Given the description of an element on the screen output the (x, y) to click on. 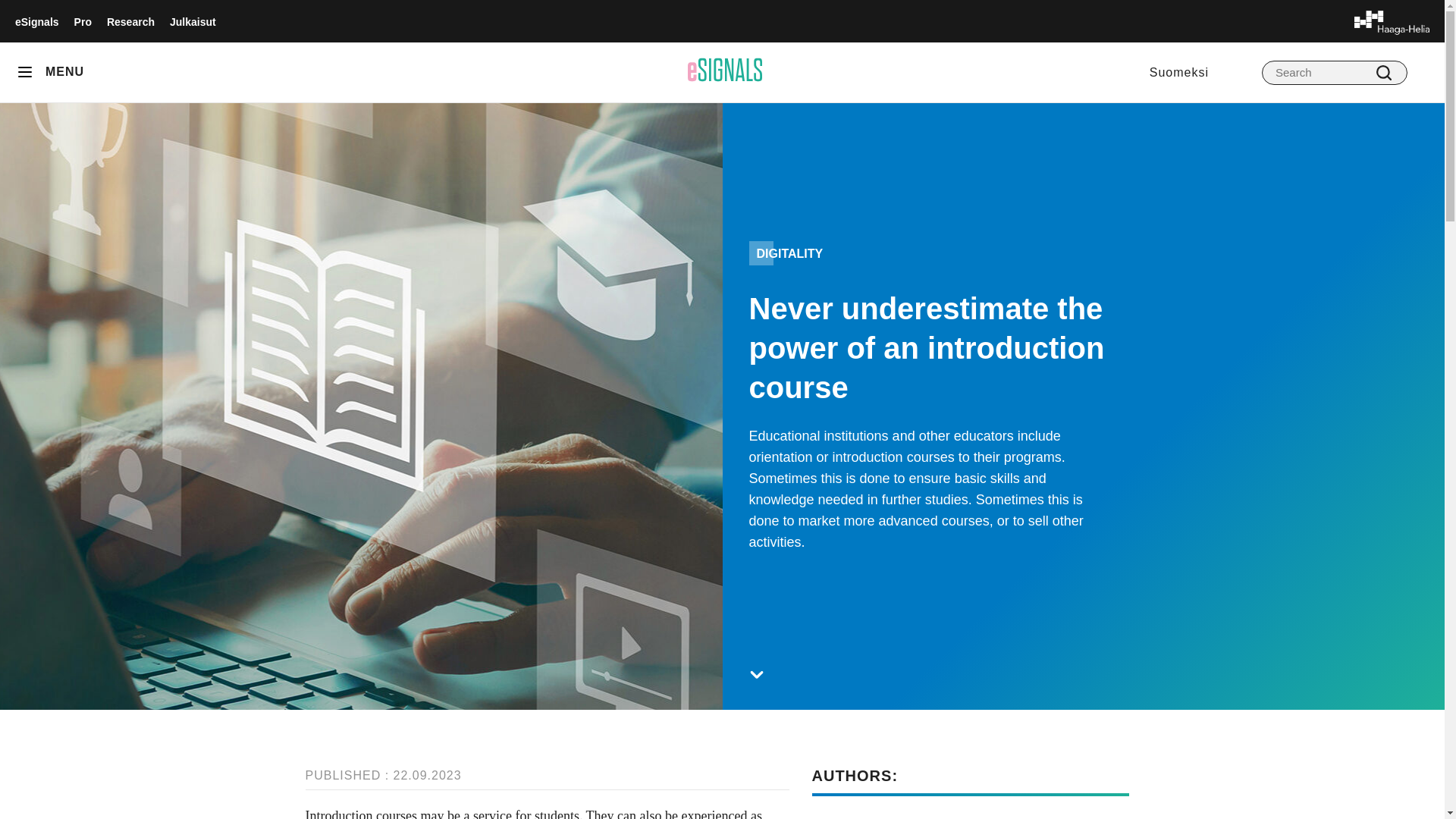
Suomeksi (1179, 71)
Valikko (30, 72)
Research (130, 21)
Pro (82, 21)
eSignals (36, 21)
Julkaisut (192, 21)
